Given the description of an element on the screen output the (x, y) to click on. 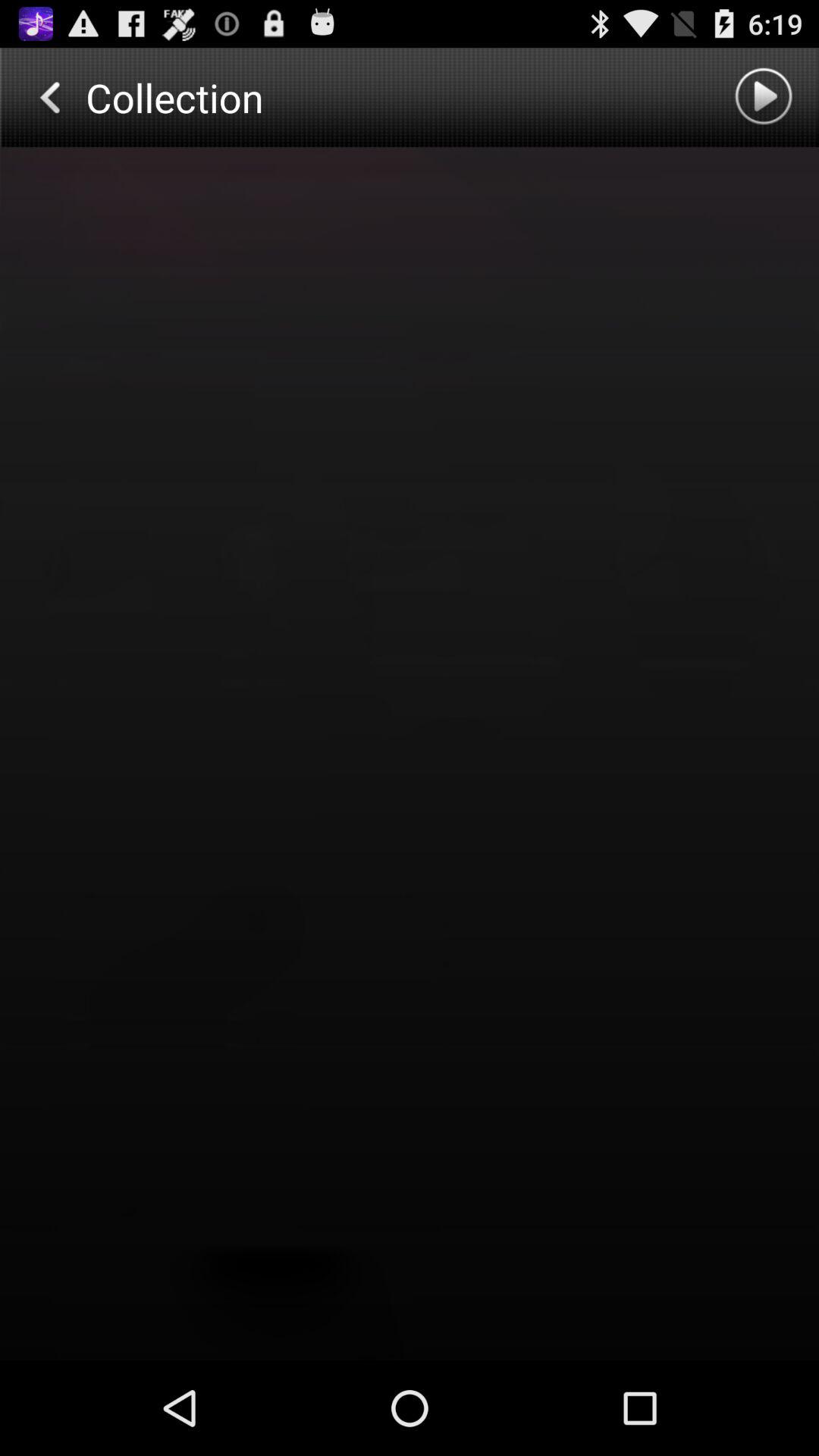
previous page (48, 97)
